Given the description of an element on the screen output the (x, y) to click on. 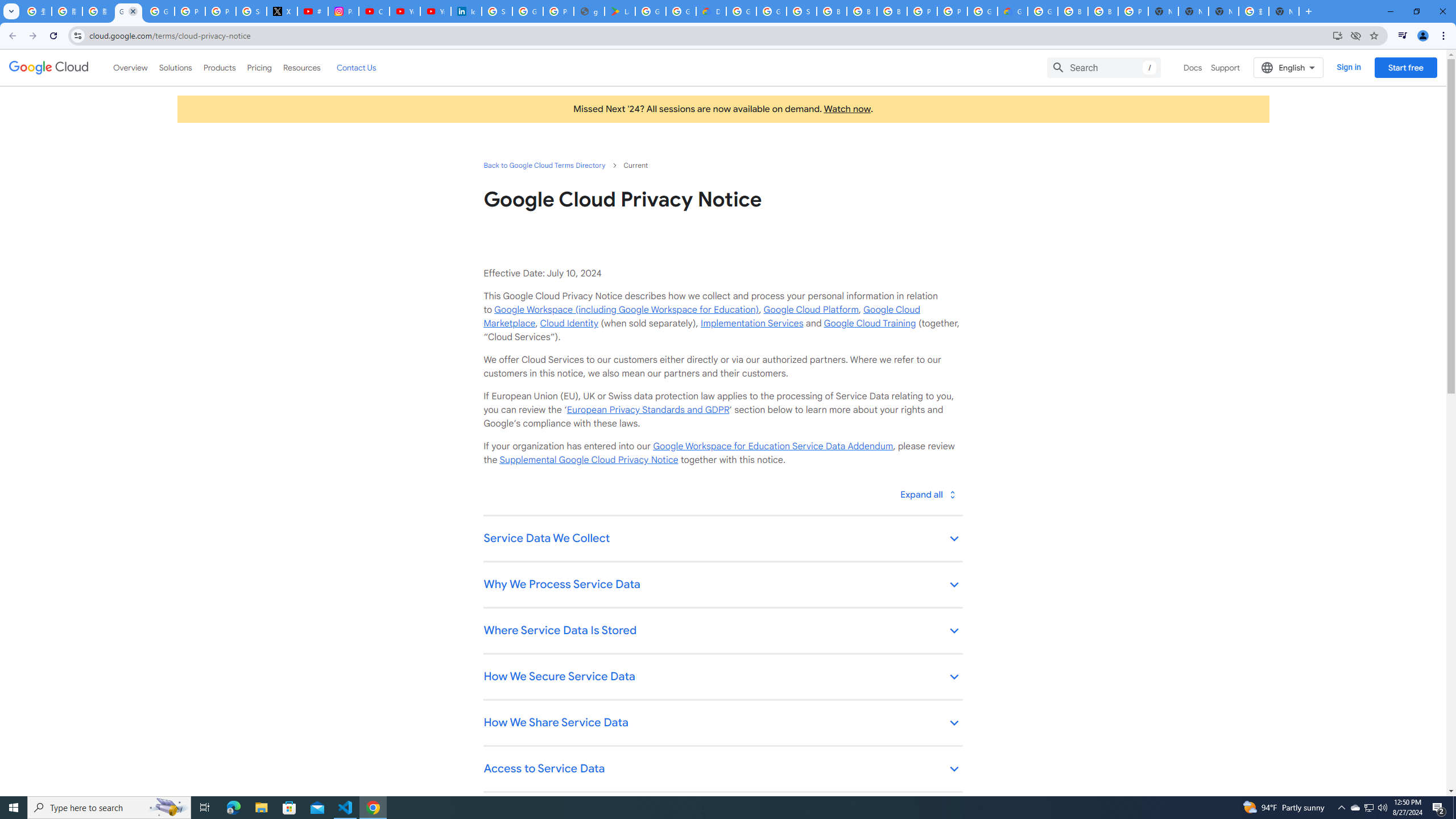
Browse Chrome as a guest - Computer - Google Chrome Help (1072, 11)
Google Cloud Estimate Summary (1012, 11)
Where Service Data Is Stored keyboard_arrow_down (722, 631)
Sign in - Google Accounts (496, 11)
Google Workspace (including Google Workspace for Education) (625, 309)
English (1288, 67)
Browse Chrome as a guest - Computer - Google Chrome Help (861, 11)
